Given the description of an element on the screen output the (x, y) to click on. 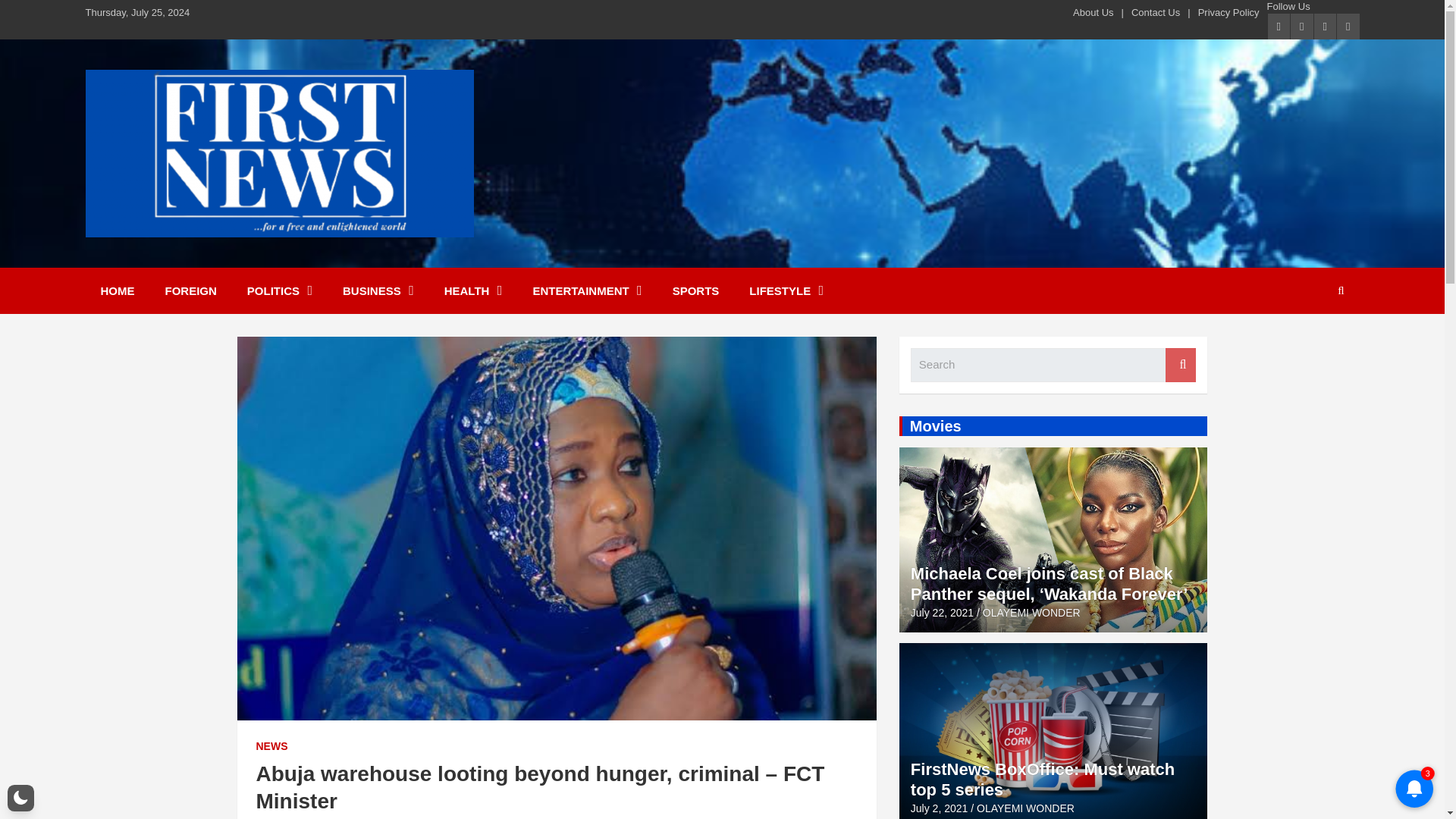
SPORTS (696, 290)
FirstNews BoxOffice: Must watch top 5 series (939, 808)
HOME (116, 290)
POLITICS (279, 290)
BUSINESS (378, 290)
NEWS (272, 746)
HEALTH (473, 290)
First News NG (188, 256)
FOREIGN (190, 290)
Privacy Policy (1228, 12)
ENTERTAINMENT (586, 290)
Contact Us (1155, 12)
LIFESTYLE (785, 290)
About Us (1093, 12)
